Given the description of an element on the screen output the (x, y) to click on. 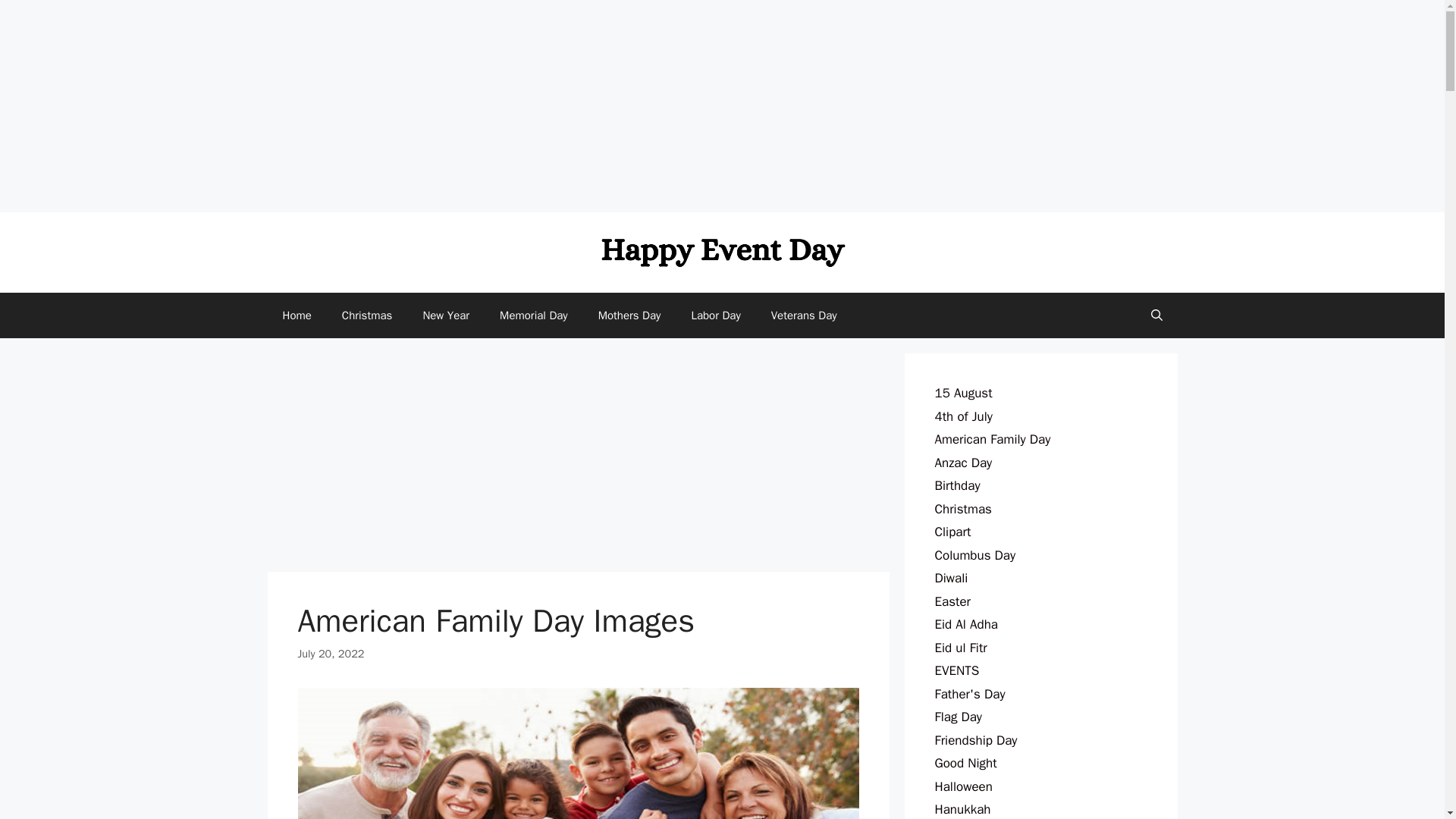
Home (296, 315)
Labor Day (715, 315)
Memorial Day (533, 315)
Veterans Day (803, 315)
Mothers Day (630, 315)
Advertisement (577, 458)
New Year (445, 315)
Christmas (366, 315)
